Given the description of an element on the screen output the (x, y) to click on. 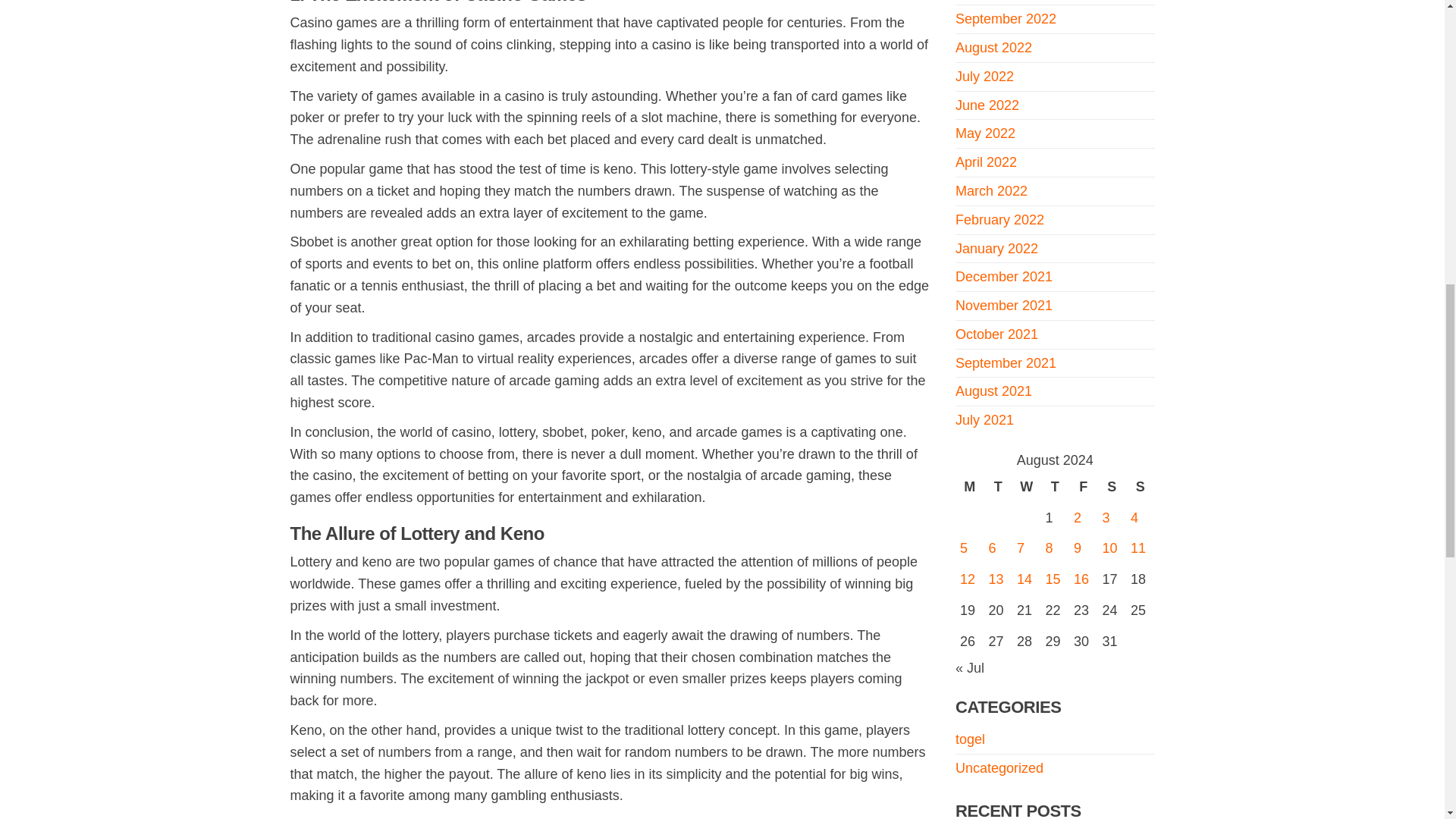
Monday (969, 486)
Thursday (1054, 486)
September 2022 (1006, 18)
Wednesday (1026, 486)
August 2022 (993, 47)
Saturday (1111, 486)
July 2022 (984, 76)
Friday (1082, 486)
Sunday (1139, 486)
Tuesday (998, 486)
